Given the description of an element on the screen output the (x, y) to click on. 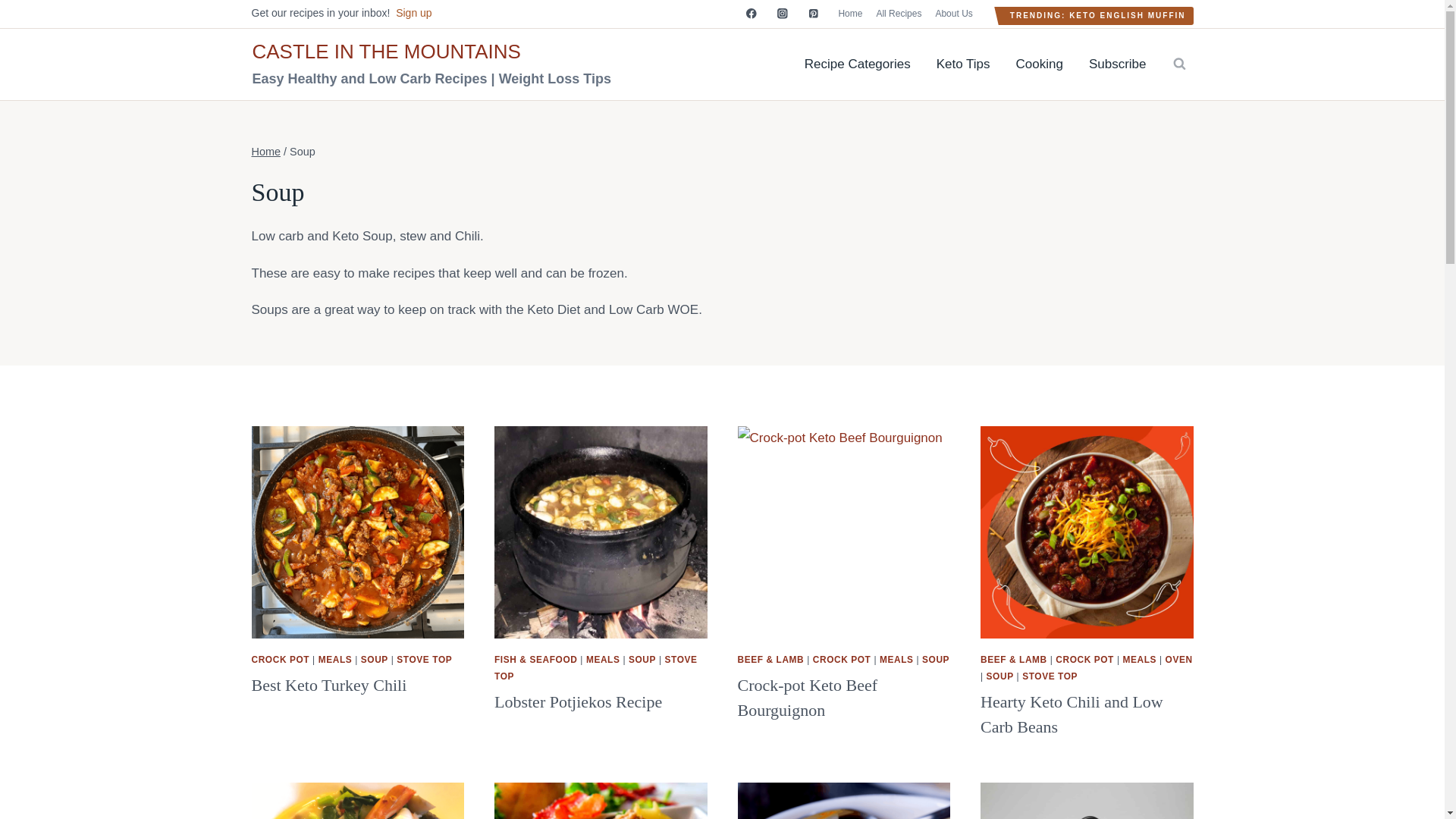
SOUP (935, 659)
TRENDING: KETO ENGLISH MUFFIN (1098, 15)
Crock-pot Keto Beef Bourguignon (806, 697)
All Recipes (898, 13)
CROCK POT (841, 659)
About Us (953, 13)
SOUP (642, 659)
Sign up (413, 12)
CROCK POT (280, 659)
Home (850, 13)
